Given the description of an element on the screen output the (x, y) to click on. 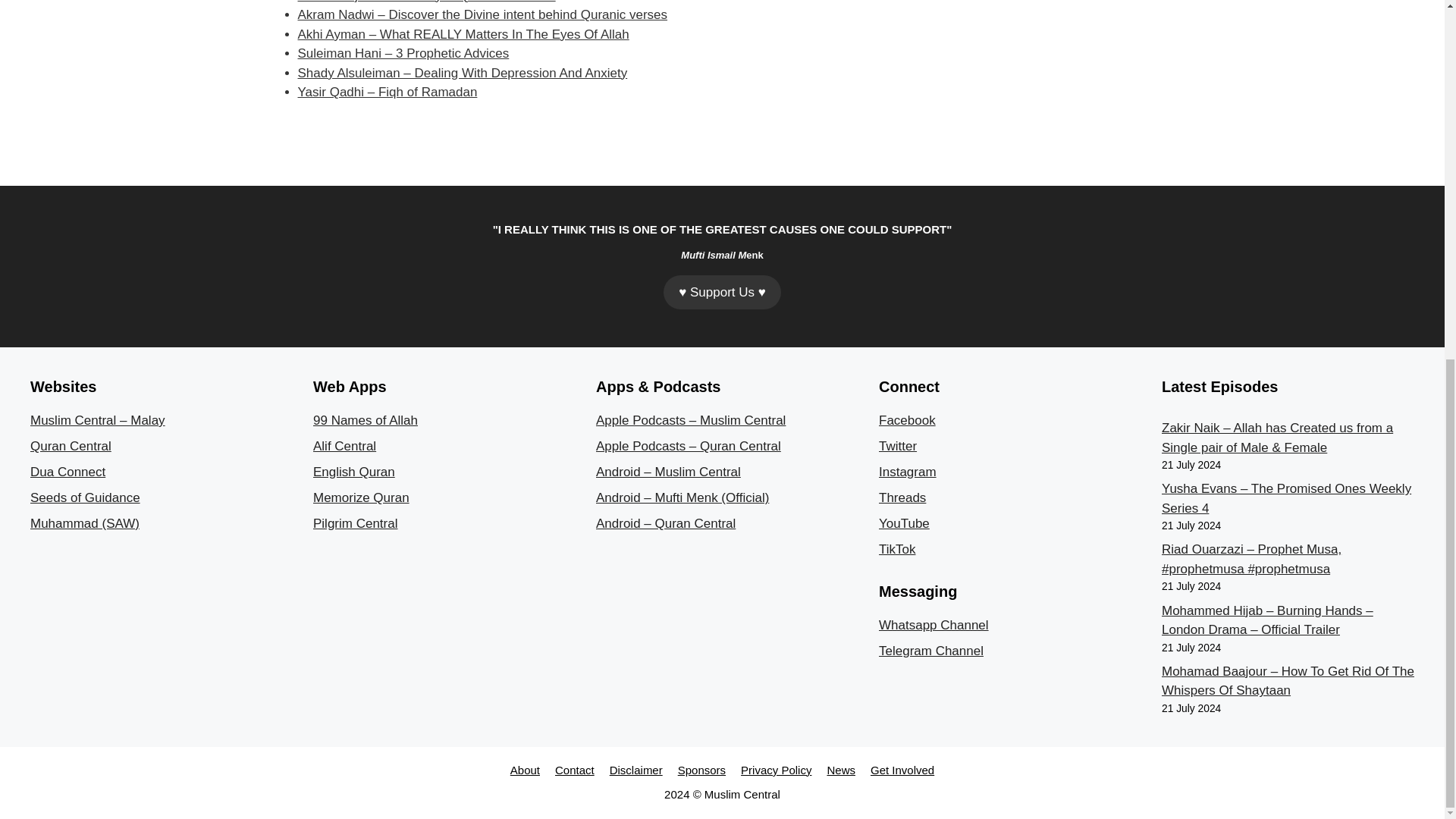
Alif Central (344, 445)
Dua Connect (67, 472)
Seeds of Guidance (84, 497)
Memorize Quran (361, 497)
Quran Central (71, 445)
English Quran (353, 472)
99 Names of Allah (365, 420)
